Given the description of an element on the screen output the (x, y) to click on. 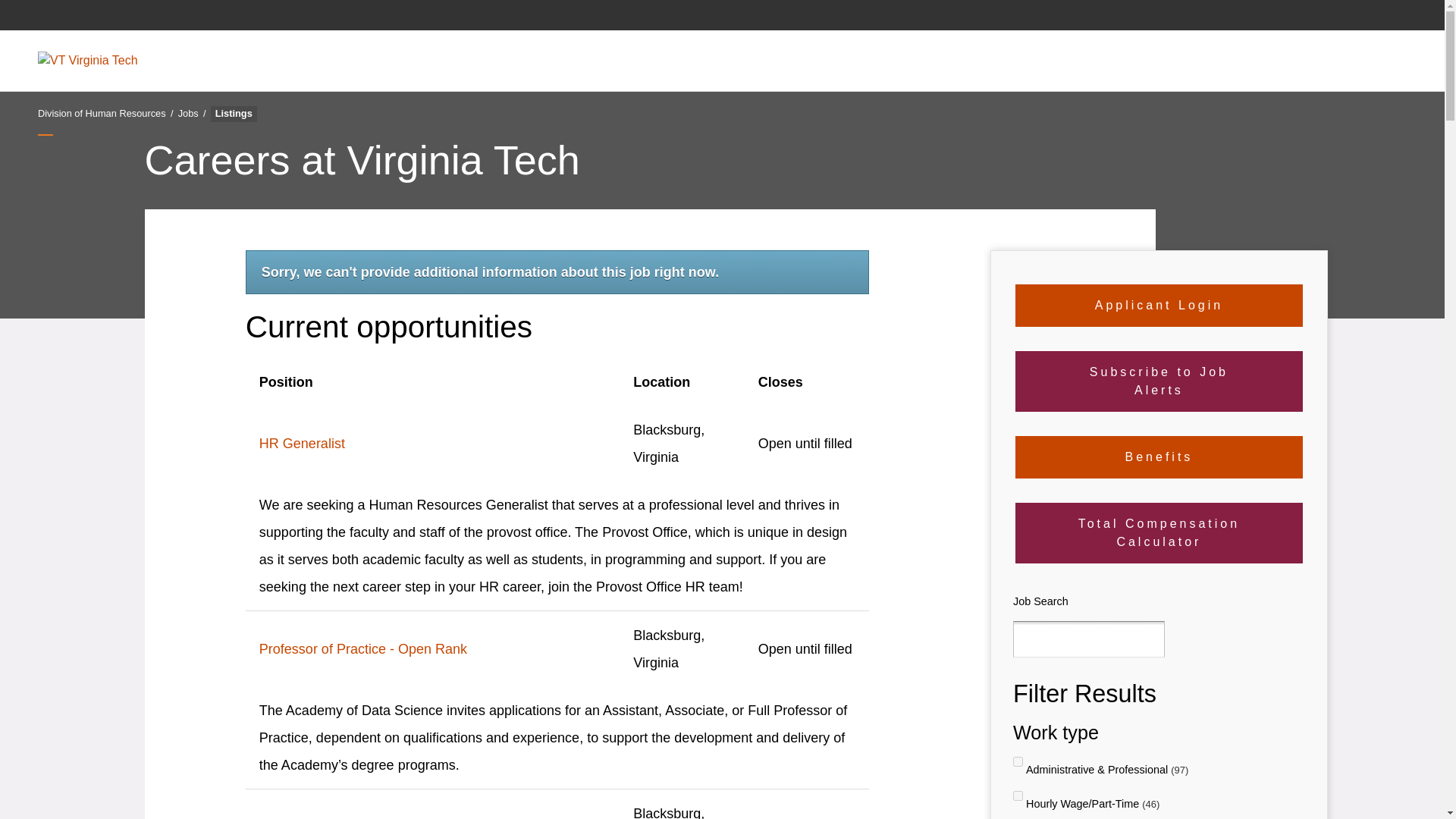
HR Generalist (432, 443)
Listings (234, 114)
Associate Ombuds (432, 816)
Professor of Practice - Open Rank (432, 648)
